Given the description of an element on the screen output the (x, y) to click on. 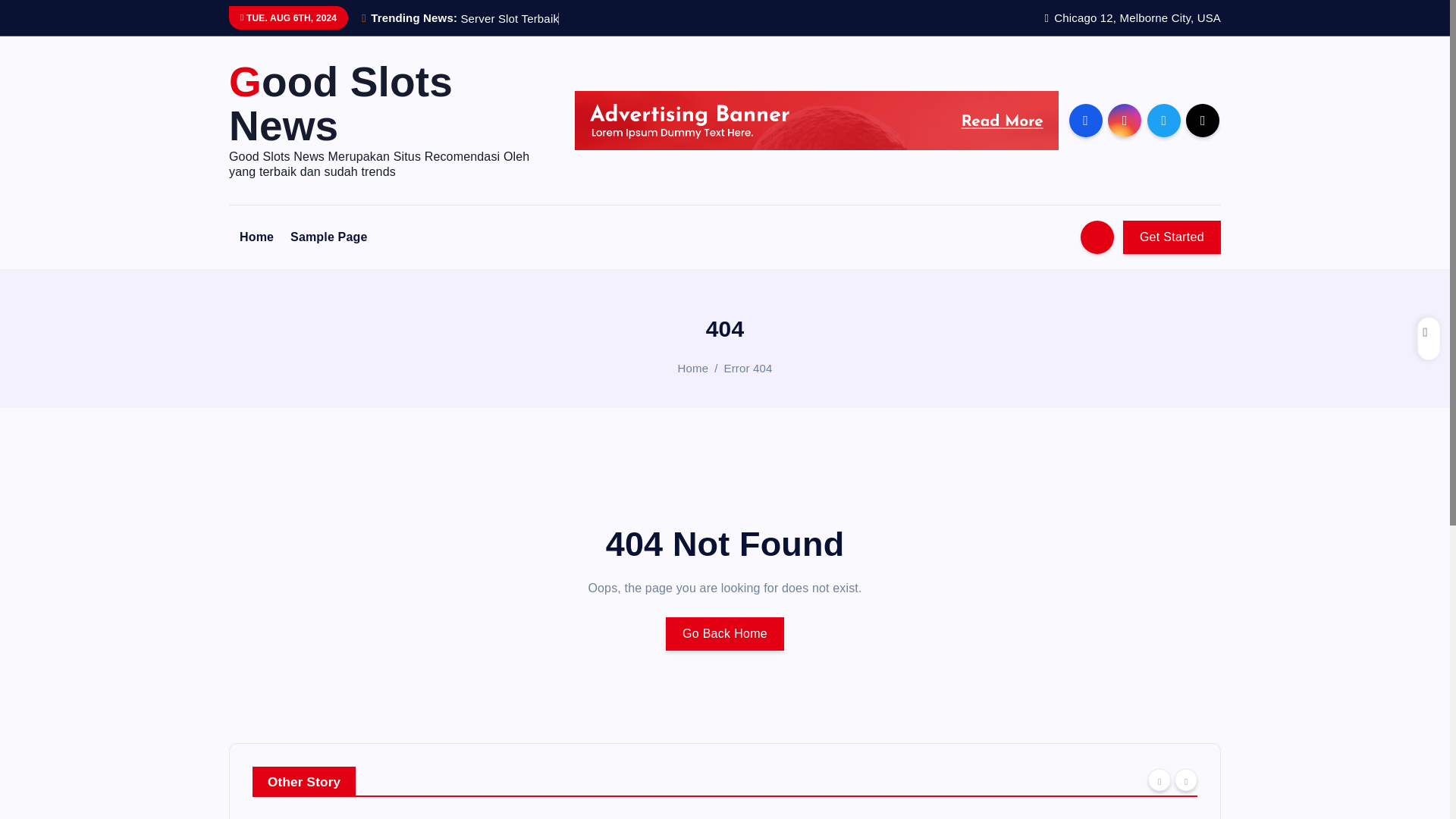
Error 404 (747, 367)
Home (693, 367)
Home (255, 236)
Good Slots News (387, 104)
Get Started (1171, 236)
Sample Page (328, 236)
Home (255, 236)
Go Back Home (724, 633)
